Given the description of an element on the screen output the (x, y) to click on. 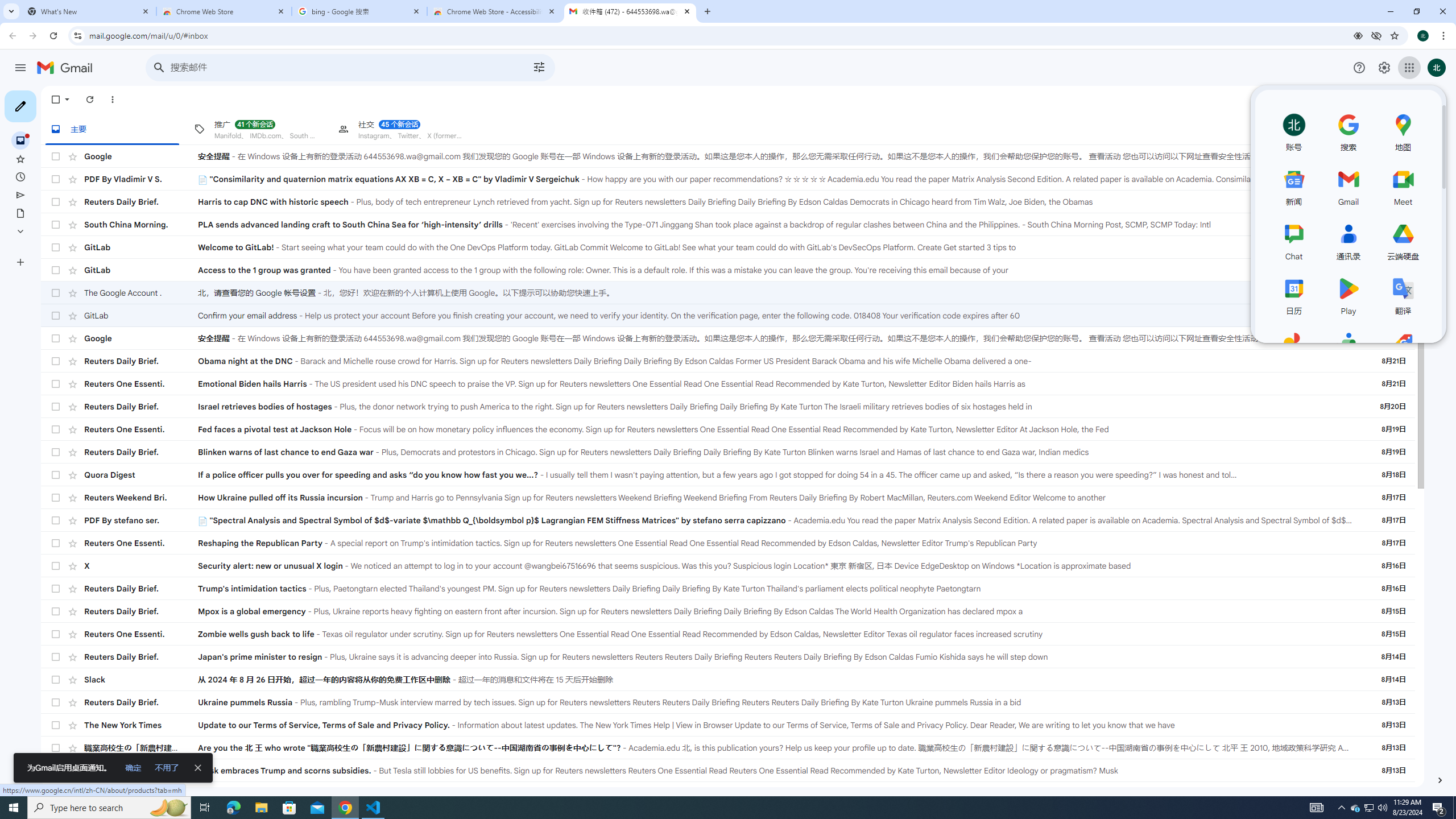
PDF By Vladimir V S. (141, 179)
